Given the description of an element on the screen output the (x, y) to click on. 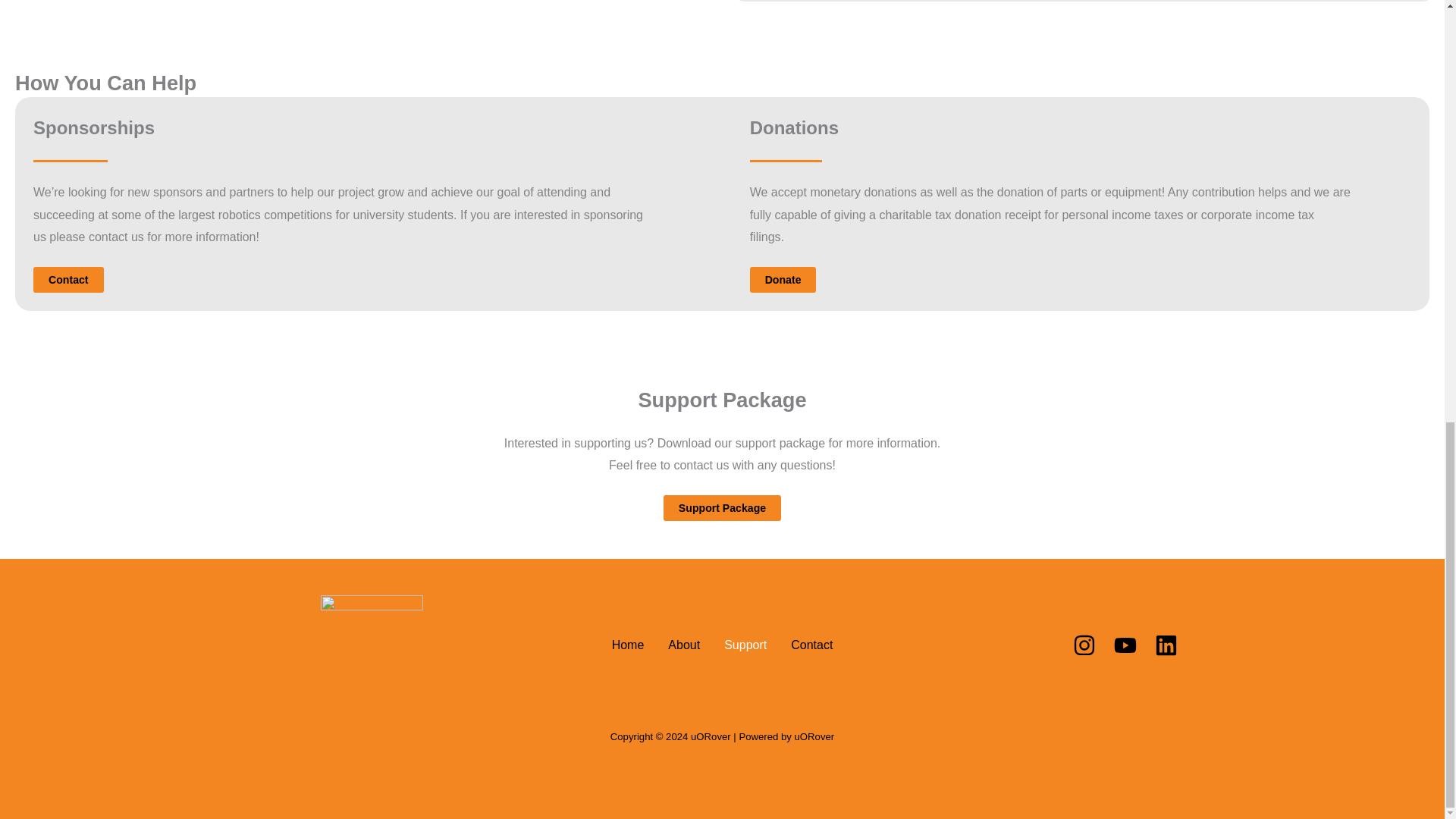
Home (627, 644)
Support Package (721, 507)
Contact (68, 279)
Donate (782, 279)
